Given the description of an element on the screen output the (x, y) to click on. 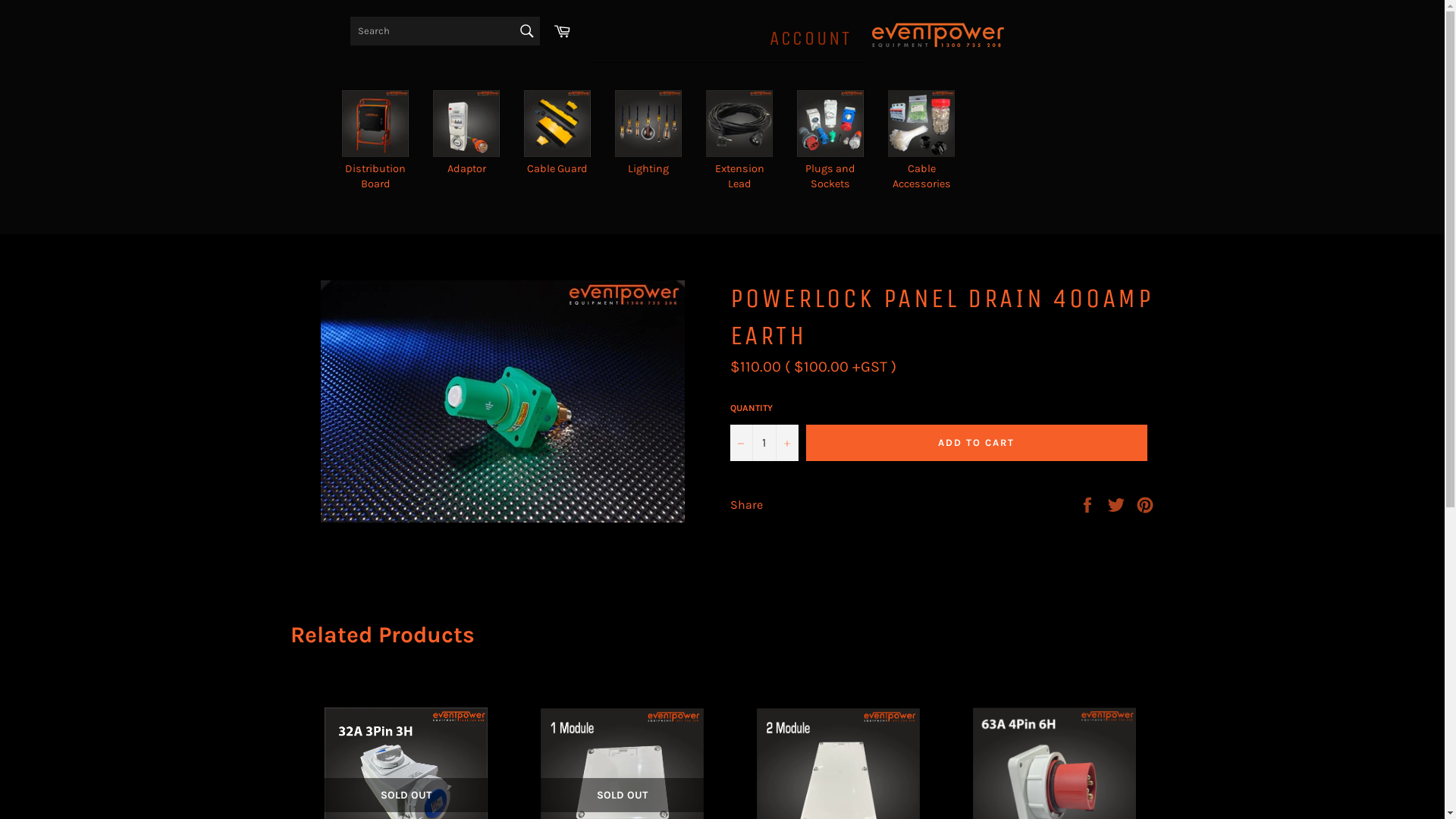
Cable Guard Element type: text (556, 133)
Pin on Pinterest Element type: text (1144, 503)
+ Element type: text (786, 442)
Adaptor Element type: text (465, 133)
Lighting Element type: text (647, 133)
Tweet on Twitter Element type: text (1117, 503)
Share on Facebook Element type: text (1088, 503)
Extension Lead Element type: text (738, 140)
ADD TO CART Element type: text (975, 442)
Cable Accessories Element type: text (920, 140)
Cart Element type: text (561, 31)
Search Element type: text (526, 31)
Distribution Board Element type: text (374, 140)
Plugs and Sockets Element type: text (829, 140)
ACCOUNT Element type: text (729, 38)
